Given the description of an element on the screen output the (x, y) to click on. 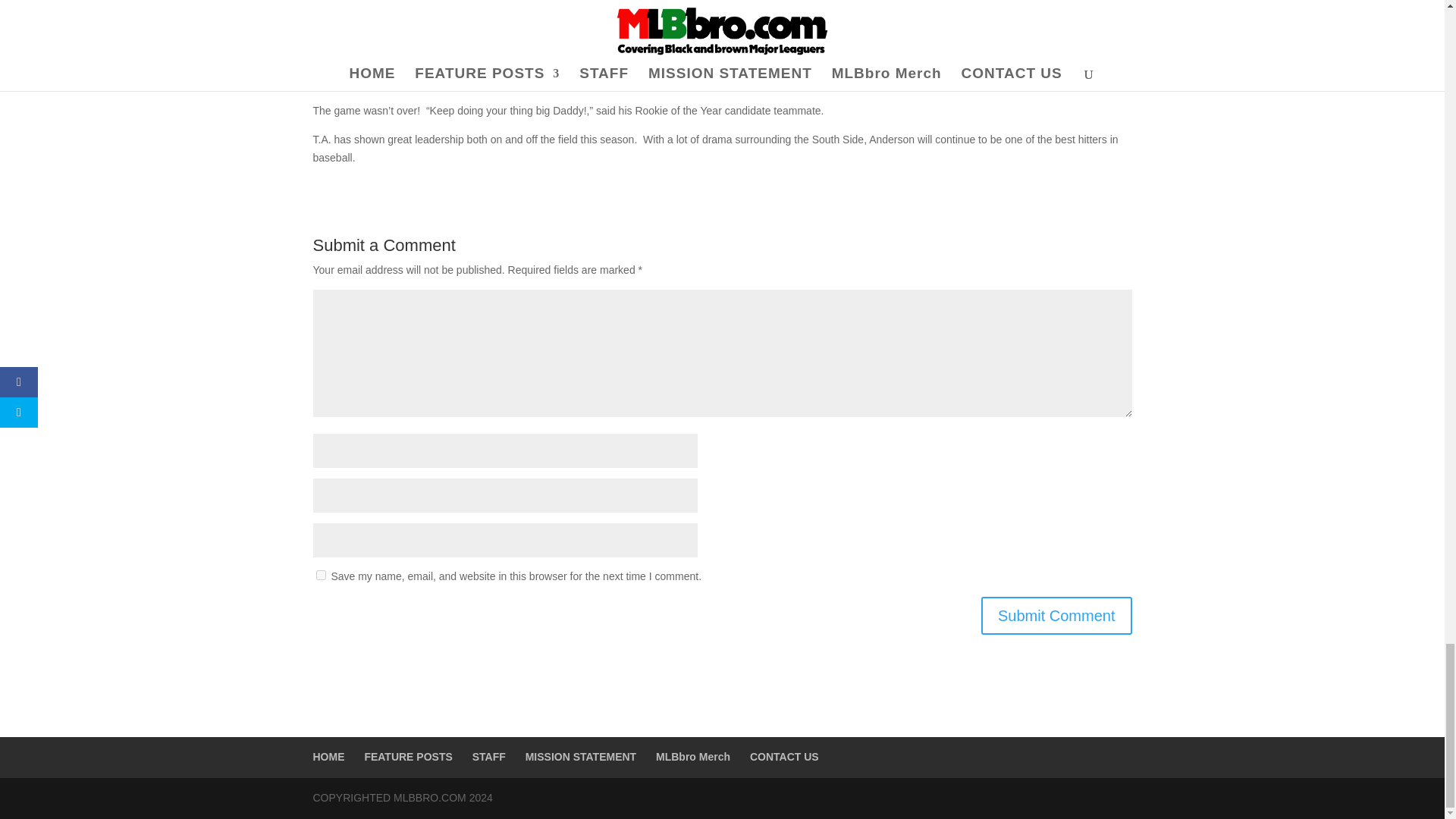
MISSION STATEMENT (580, 756)
STAFF (488, 756)
Submit Comment (1056, 615)
FEATURE POSTS (407, 756)
Submit Comment (1056, 615)
HOME (328, 756)
yes (319, 574)
MLB Tim Anderson Best Plays (722, 36)
